Given the description of an element on the screen output the (x, y) to click on. 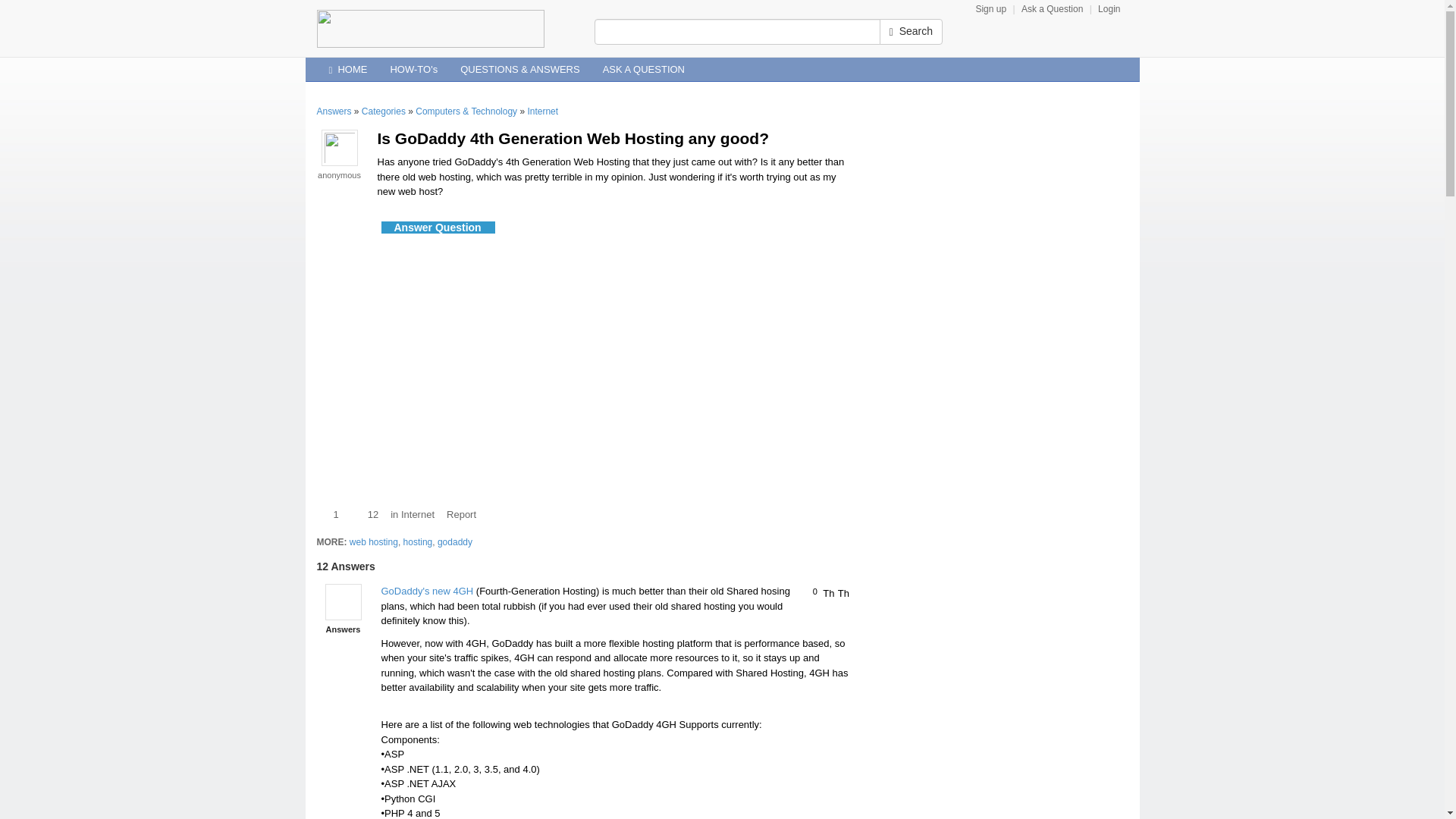
1 (328, 514)
Internet (542, 111)
Login (1108, 9)
 HOME (347, 69)
web hosting (373, 542)
This answer is not useful (844, 592)
anonymous (339, 174)
ASK A QUESTION (643, 69)
Twitter Profile (1127, 62)
12 (364, 514)
